Given the description of an element on the screen output the (x, y) to click on. 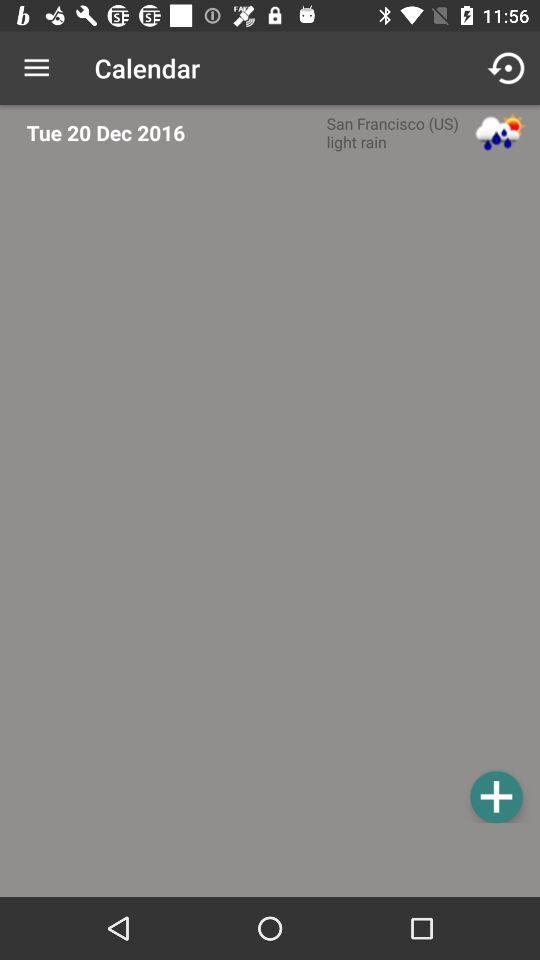
add calendar item (276, 494)
